Given the description of an element on the screen output the (x, y) to click on. 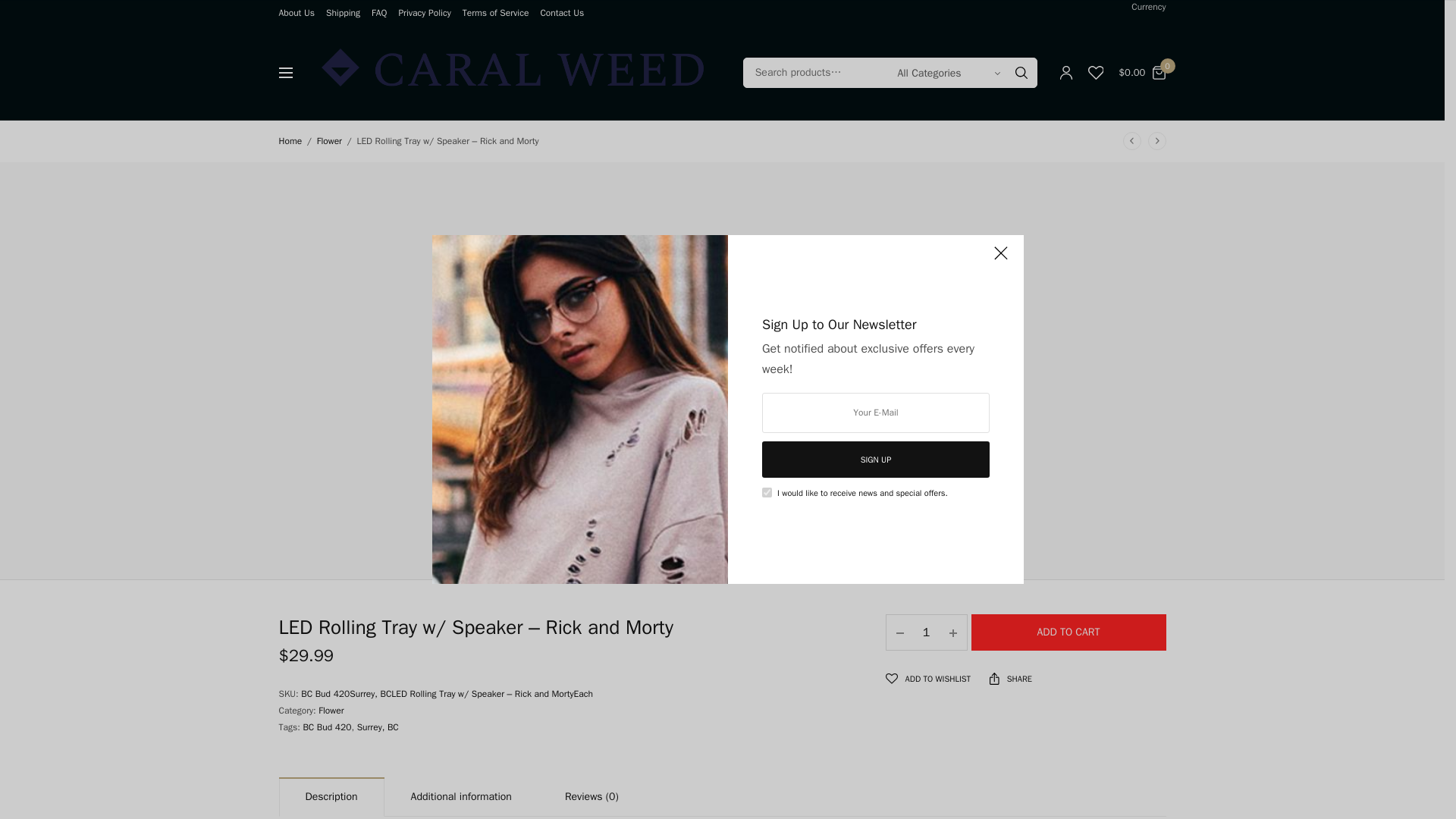
Home (290, 141)
ADD TO WISHLIST (928, 678)
ADD TO CART (1068, 632)
BC Bud 420 (326, 727)
Flower (329, 141)
on (766, 492)
Contact Us (561, 12)
Surrey, BC (377, 727)
Additional information (461, 797)
